Given the description of an element on the screen output the (x, y) to click on. 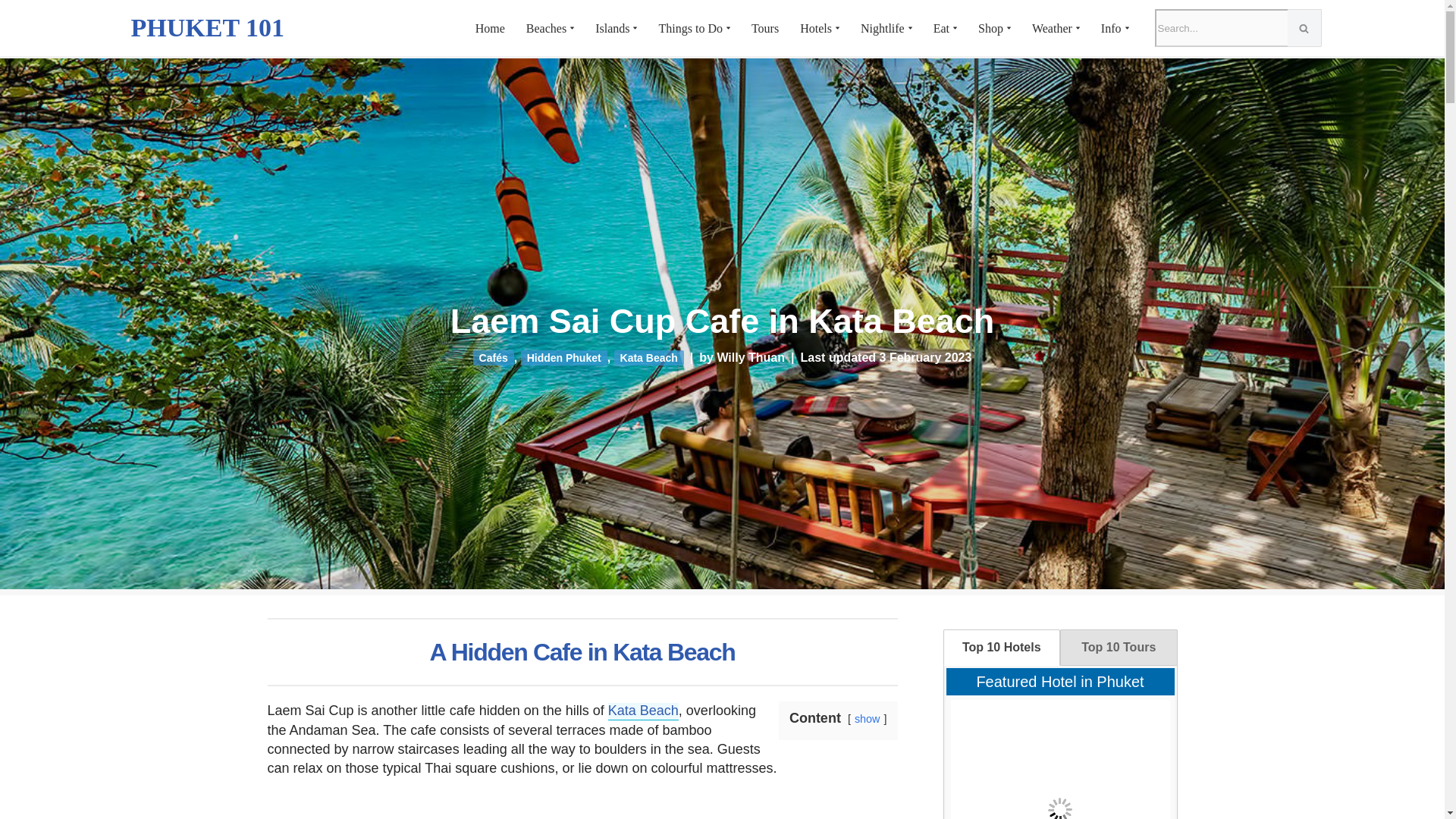
Posts by Willy Thuan (750, 357)
PHUKET 101 (207, 27)
Islands (611, 28)
Skip to content (11, 31)
Beaches (545, 28)
Tours (764, 28)
Hotels (815, 28)
Laem Sai Cup Cafe in Kata Beach 1 (581, 809)
Things to Do (690, 28)
Home (490, 28)
